Given the description of an element on the screen output the (x, y) to click on. 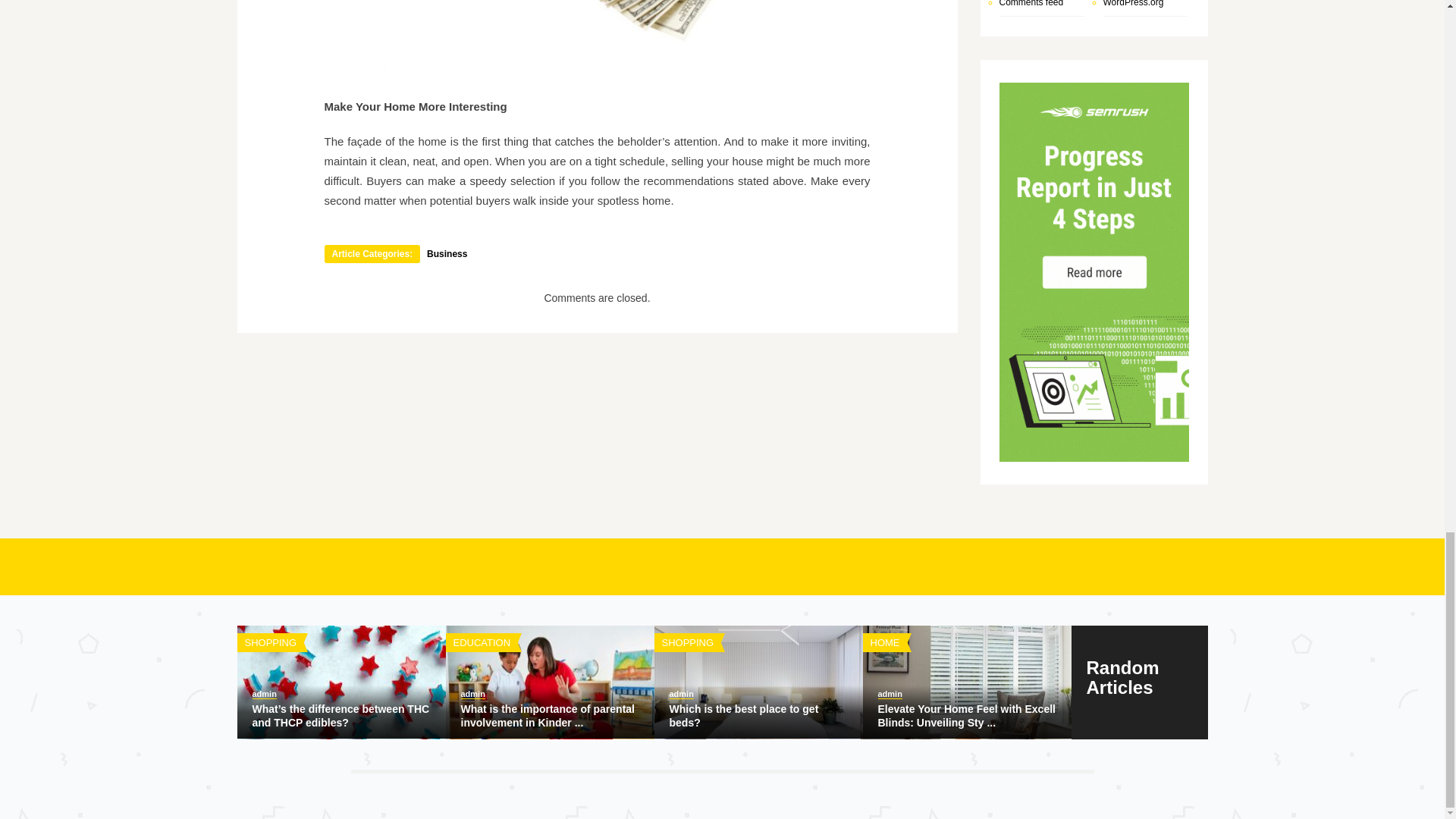
Business (446, 253)
